Given the description of an element on the screen output the (x, y) to click on. 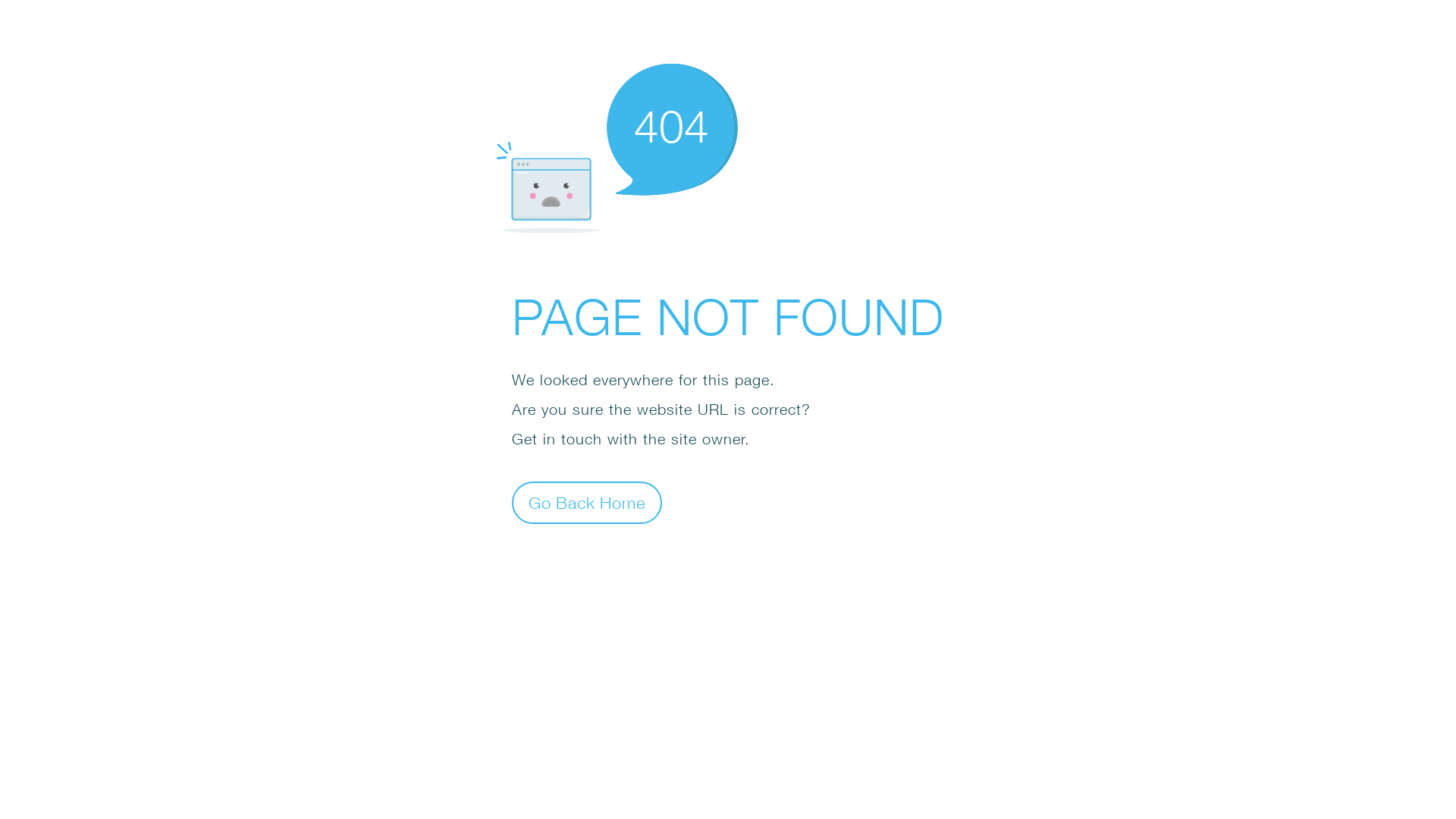
Go Back Home Element type: text (586, 502)
